Given the description of an element on the screen output the (x, y) to click on. 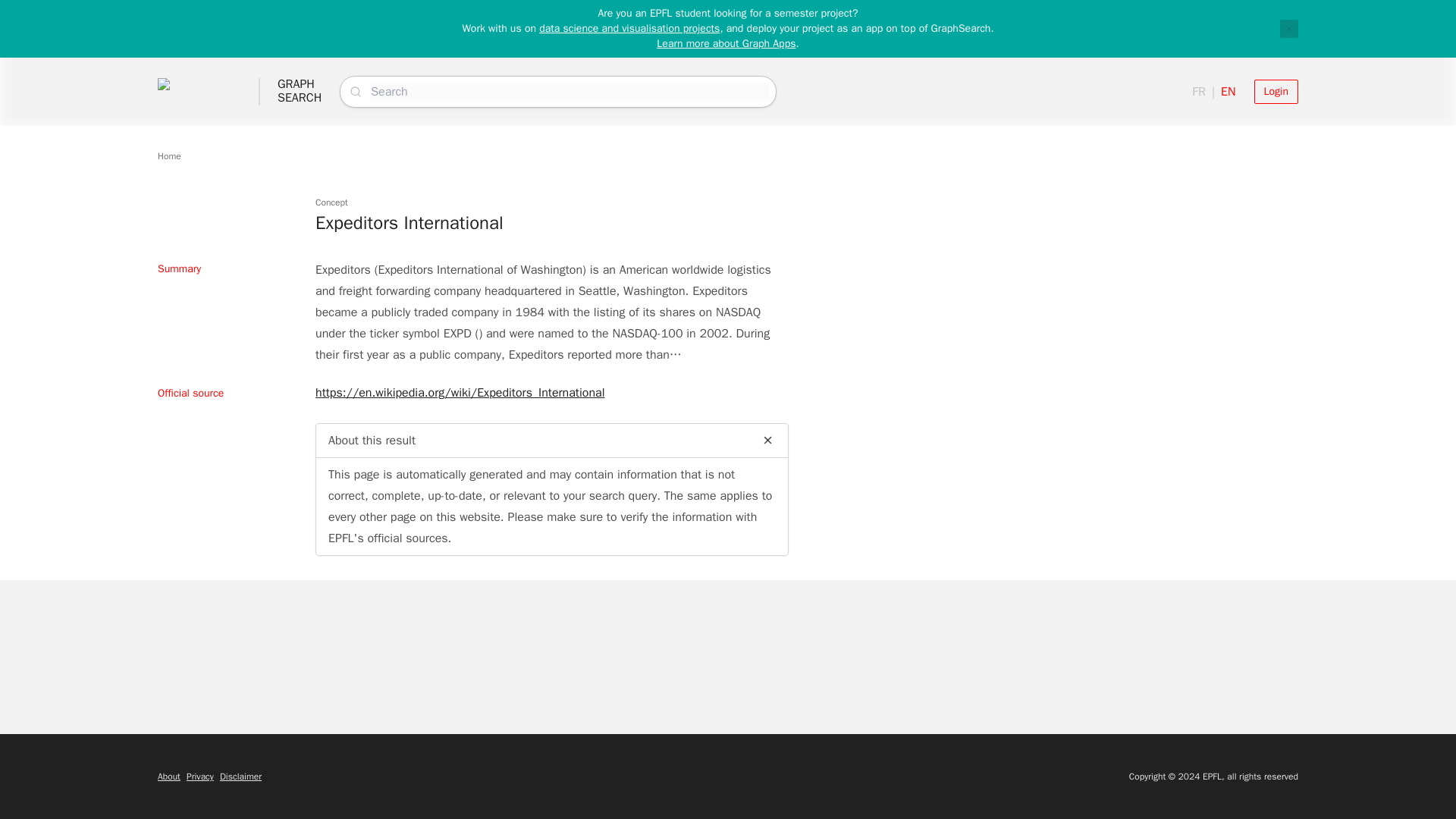
Disclaimer (240, 776)
About (299, 90)
Login (168, 776)
data science and visualisation projects (1275, 91)
Home (628, 28)
Close notification (168, 155)
Privacy (1288, 28)
Learn more about Graph Apps (200, 776)
